Given the description of an element on the screen output the (x, y) to click on. 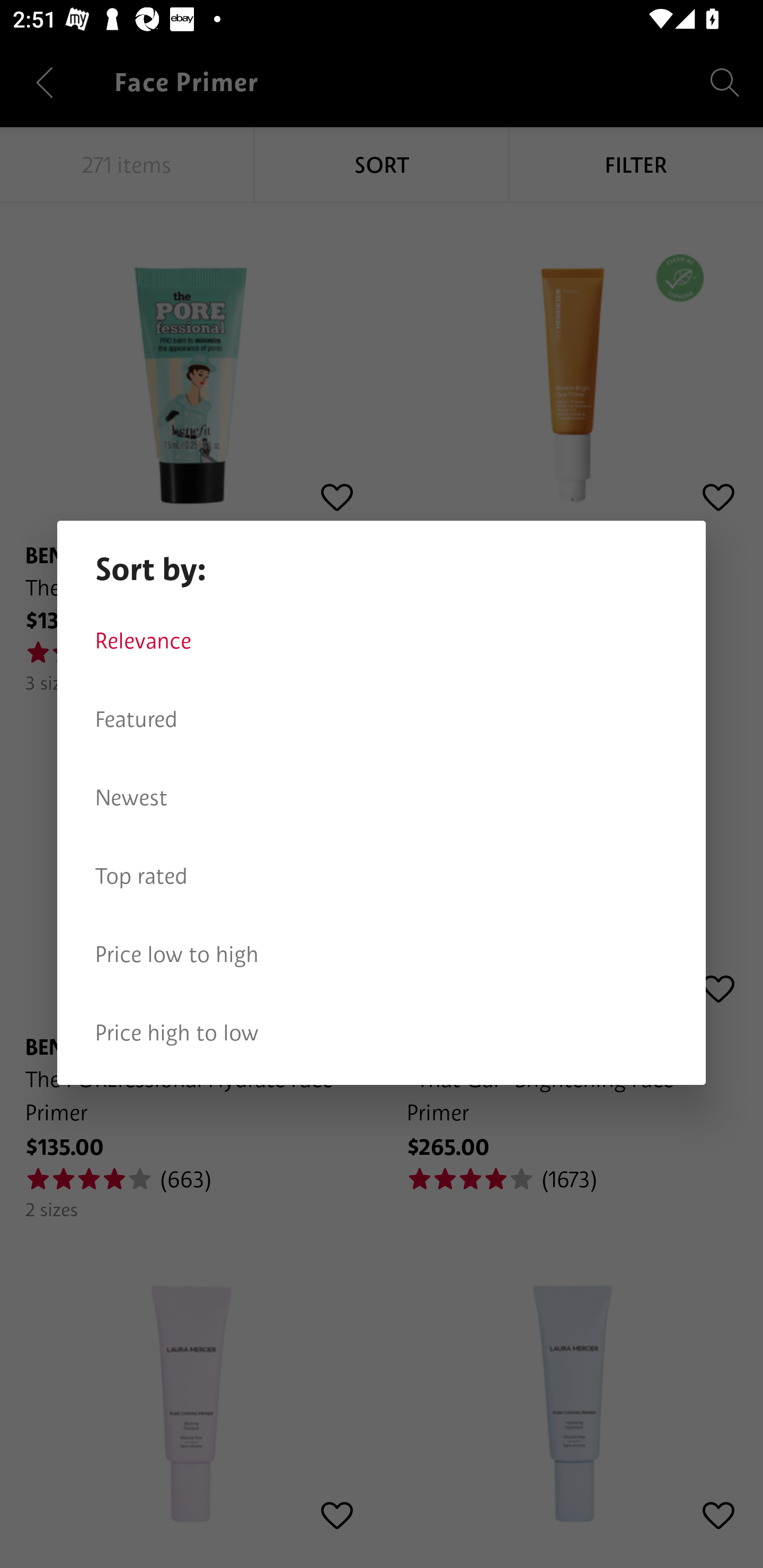
Relevance (381, 641)
Featured (381, 719)
Newest (381, 797)
Top rated (381, 876)
Price low to high (381, 954)
Price high to low (381, 1033)
